Given the description of an element on the screen output the (x, y) to click on. 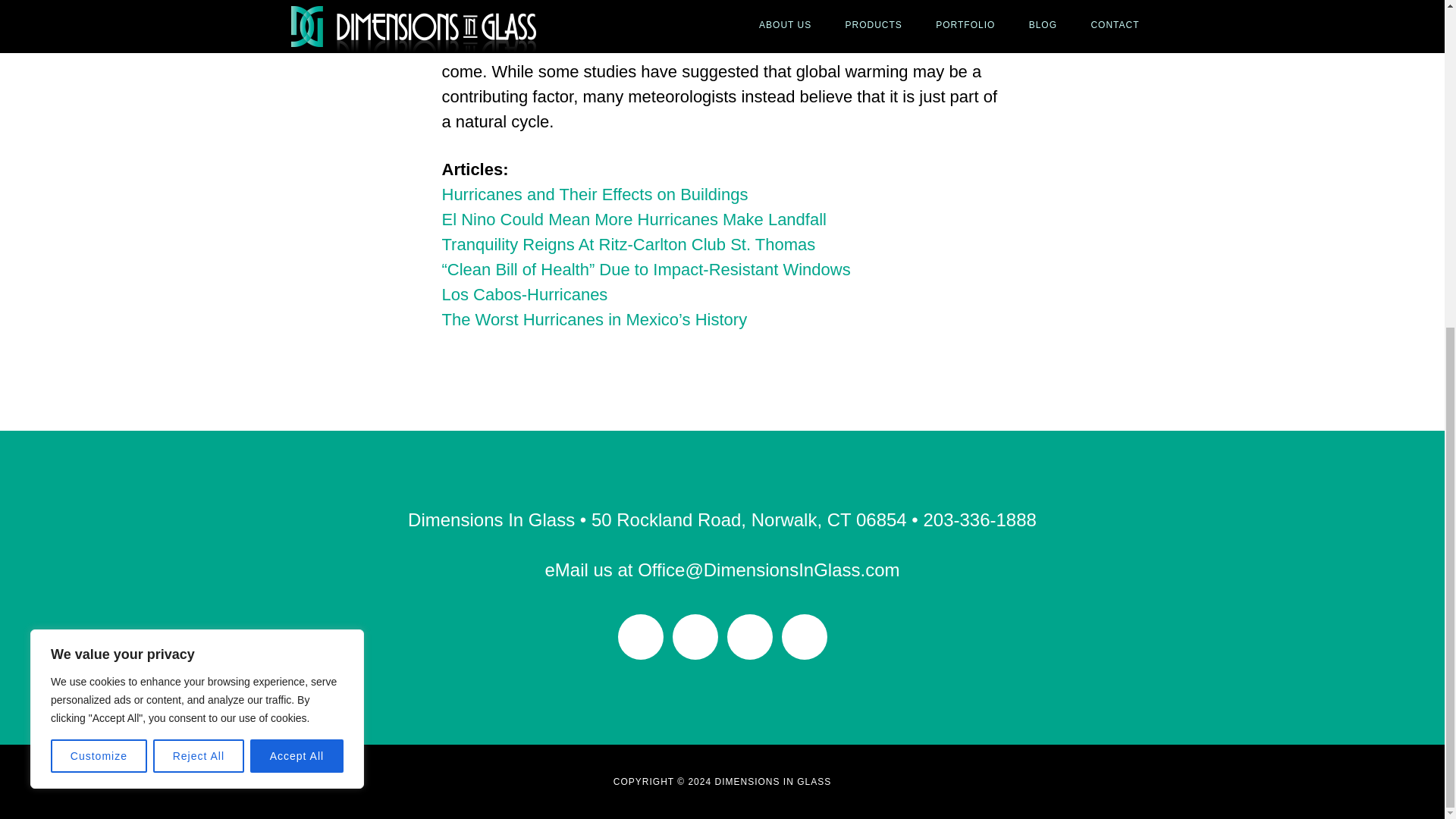
Accept All (296, 216)
Reject All (198, 216)
Hurricanes and Their Effects on Buildings (594, 194)
Customize (98, 216)
El Nino Could Mean More Hurricanes Make Landfall (633, 219)
